Given the description of an element on the screen output the (x, y) to click on. 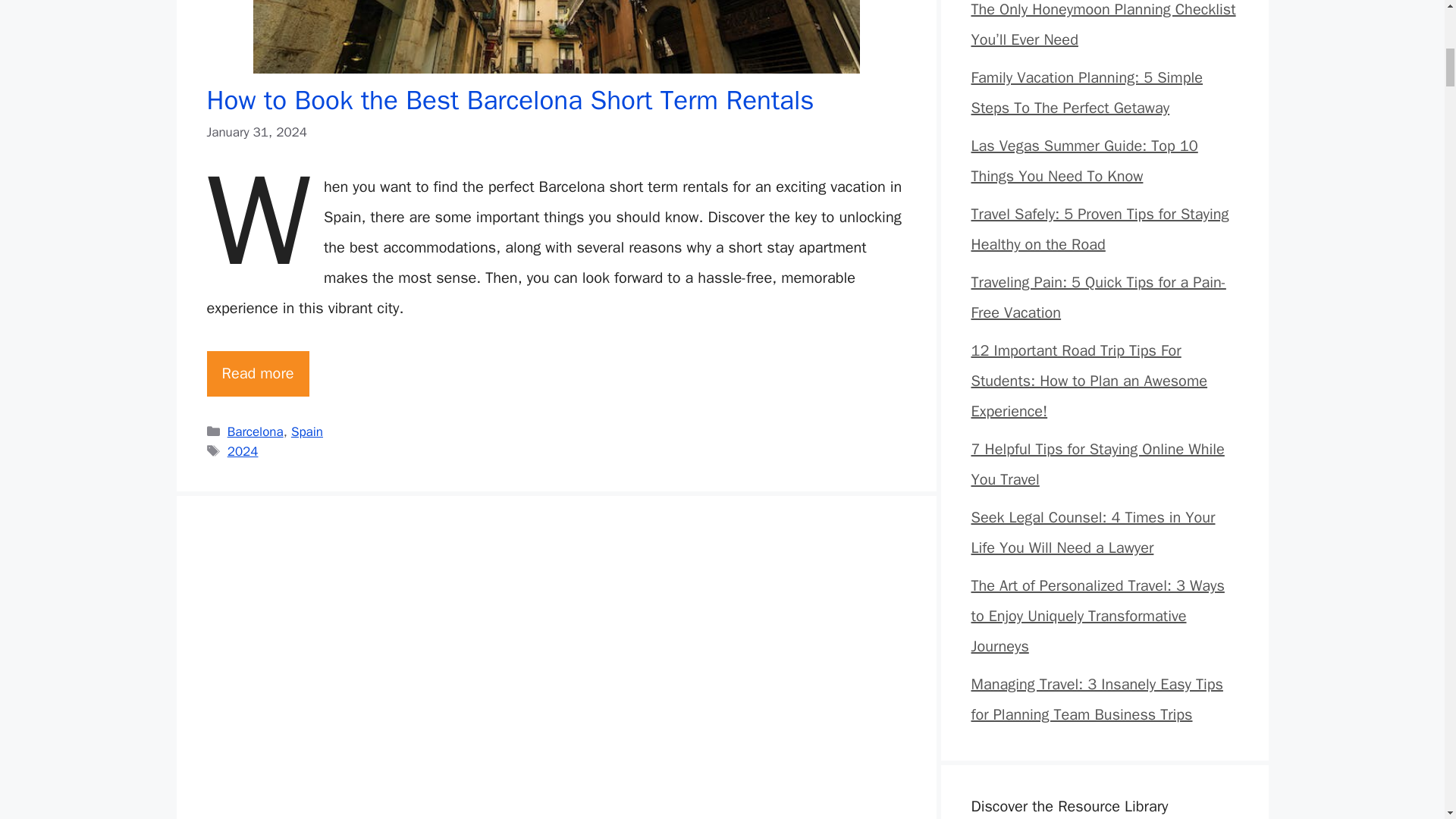
How to Book the Best Barcelona Short Term Rentals 1 (556, 36)
How to Book the Best Barcelona Short Term Rentals (257, 373)
